Given the description of an element on the screen output the (x, y) to click on. 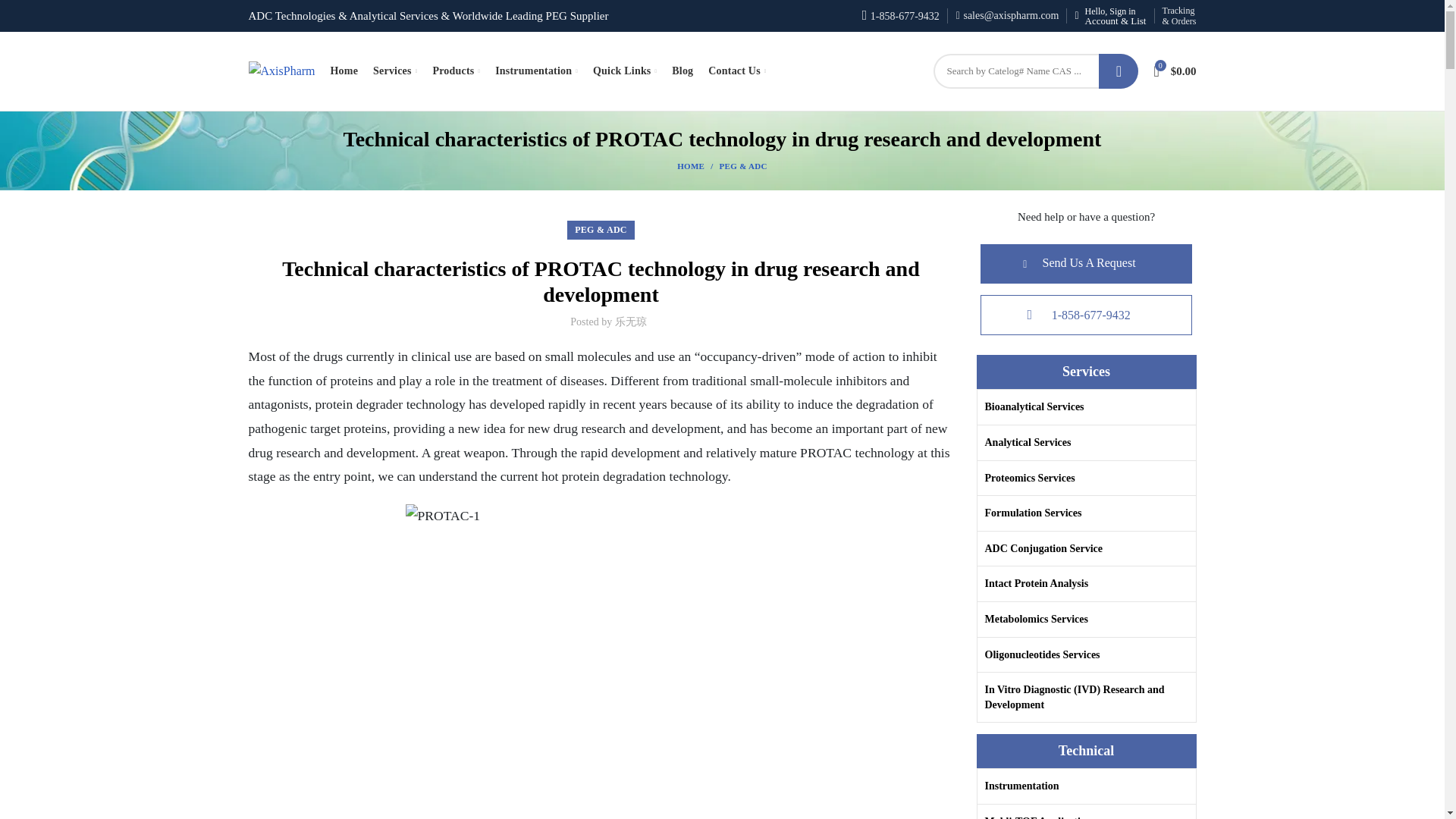
My account (1110, 15)
Hello, Sign in (1110, 15)
Shopping cart (1174, 71)
Home (344, 71)
1-858-677-9432 (900, 16)
Services (395, 71)
